Given the description of an element on the screen output the (x, y) to click on. 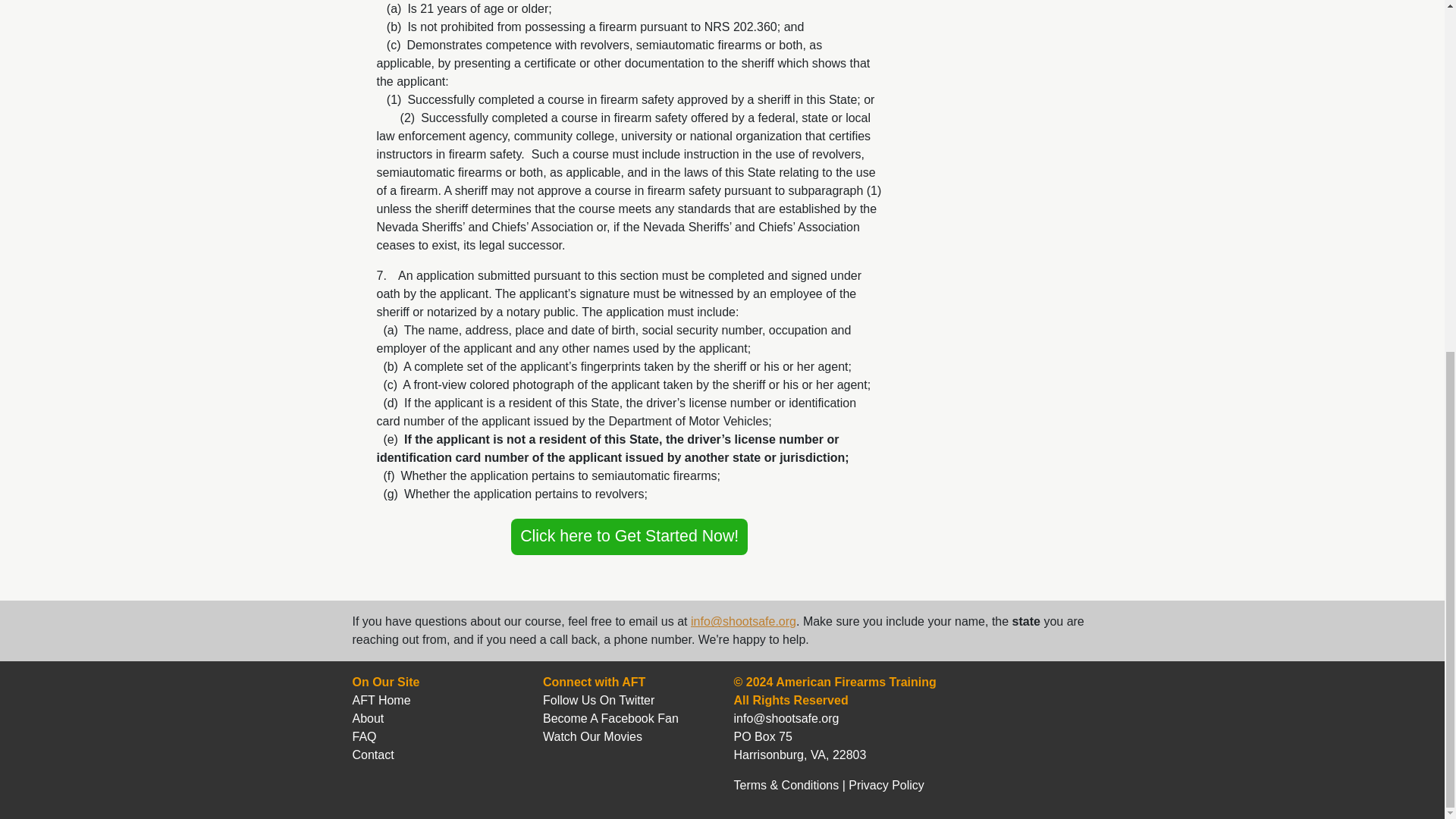
FAQ (363, 736)
Watch Our Movies (592, 736)
Get Started Now (629, 536)
Privacy Policy (886, 784)
Become A Facebook Fan (610, 717)
AFT Support (743, 621)
Follow us on Twitter (598, 699)
Click here to Get Started Now! (629, 536)
Contact (372, 754)
Privacy Policy (886, 784)
Check out our channel on YouTube (592, 736)
Follow Us On Twitter (598, 699)
Become A Facebook Fan (610, 717)
AFT Home (381, 699)
About (368, 717)
